Given the description of an element on the screen output the (x, y) to click on. 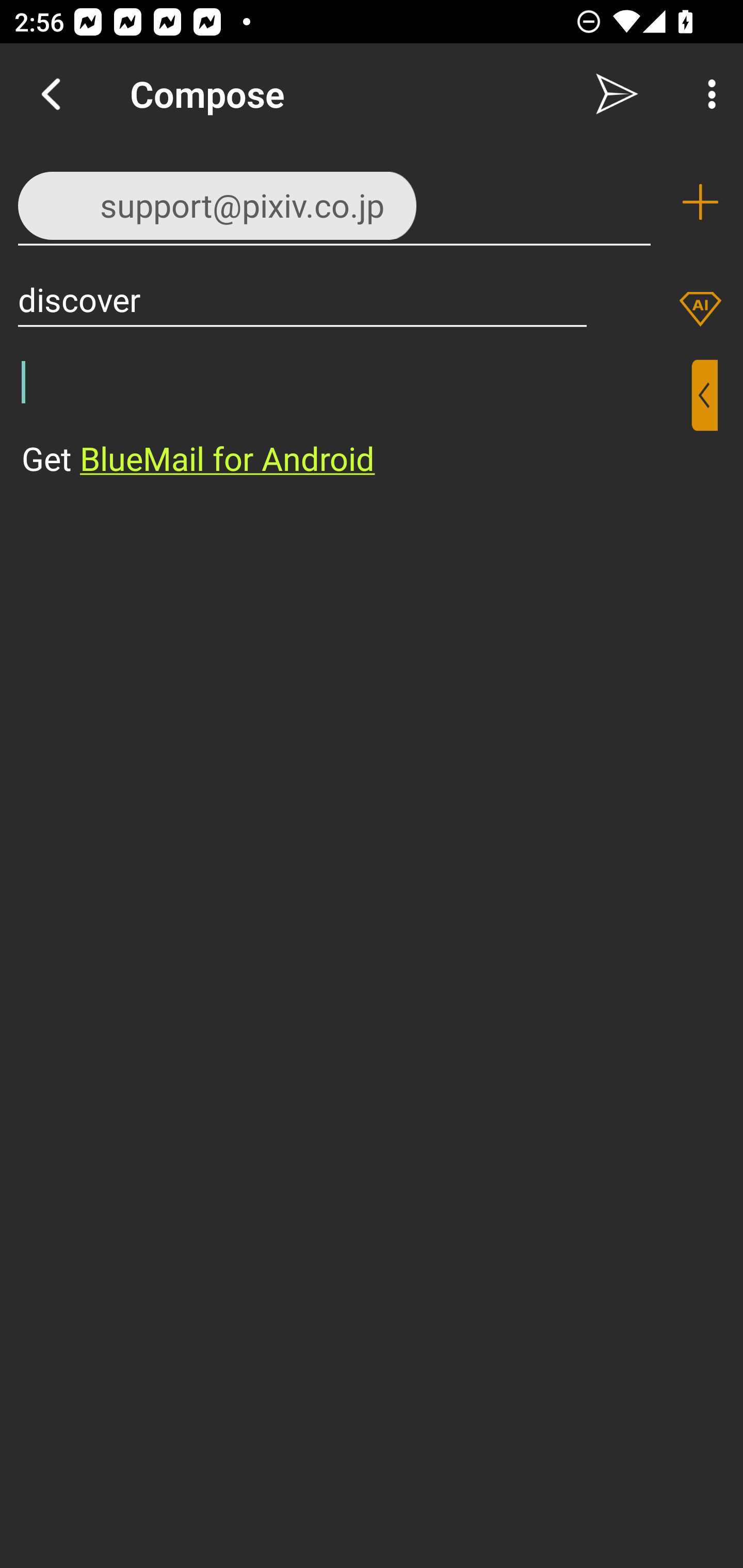
Navigate up (50, 93)
Send (616, 93)
More Options (706, 93)
<support@pixiv.co.jp>,  (334, 201)
Add recipient (To) (699, 201)
discover (302, 299)


⁣Get BlueMail for Android ​ (355, 419)
